Given the description of an element on the screen output the (x, y) to click on. 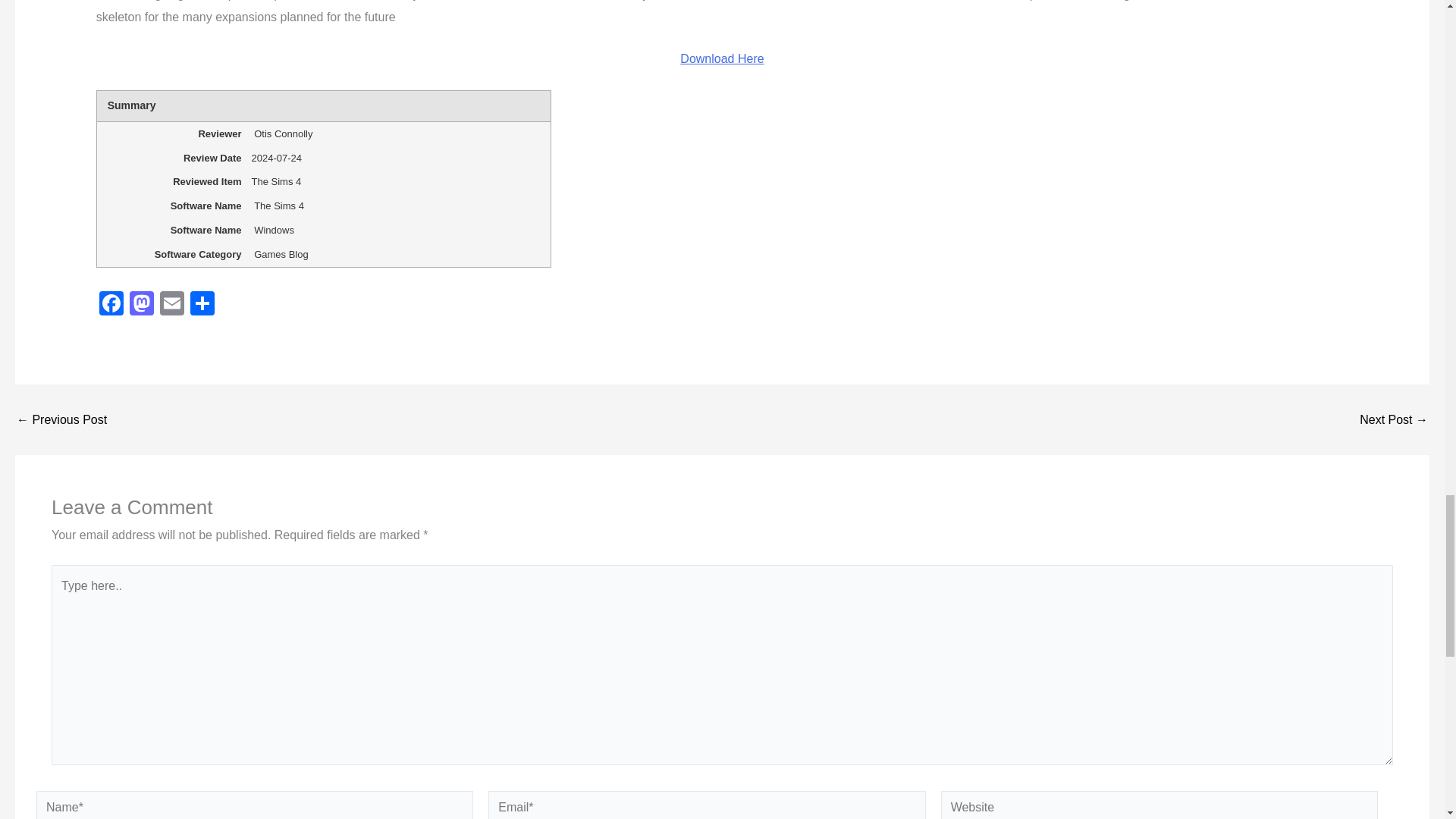
Facebook (111, 305)
Mastodon (141, 305)
Facebook (111, 305)
Email (172, 305)
Mastodon (141, 305)
Download Here (720, 58)
Email (172, 305)
